Given the description of an element on the screen output the (x, y) to click on. 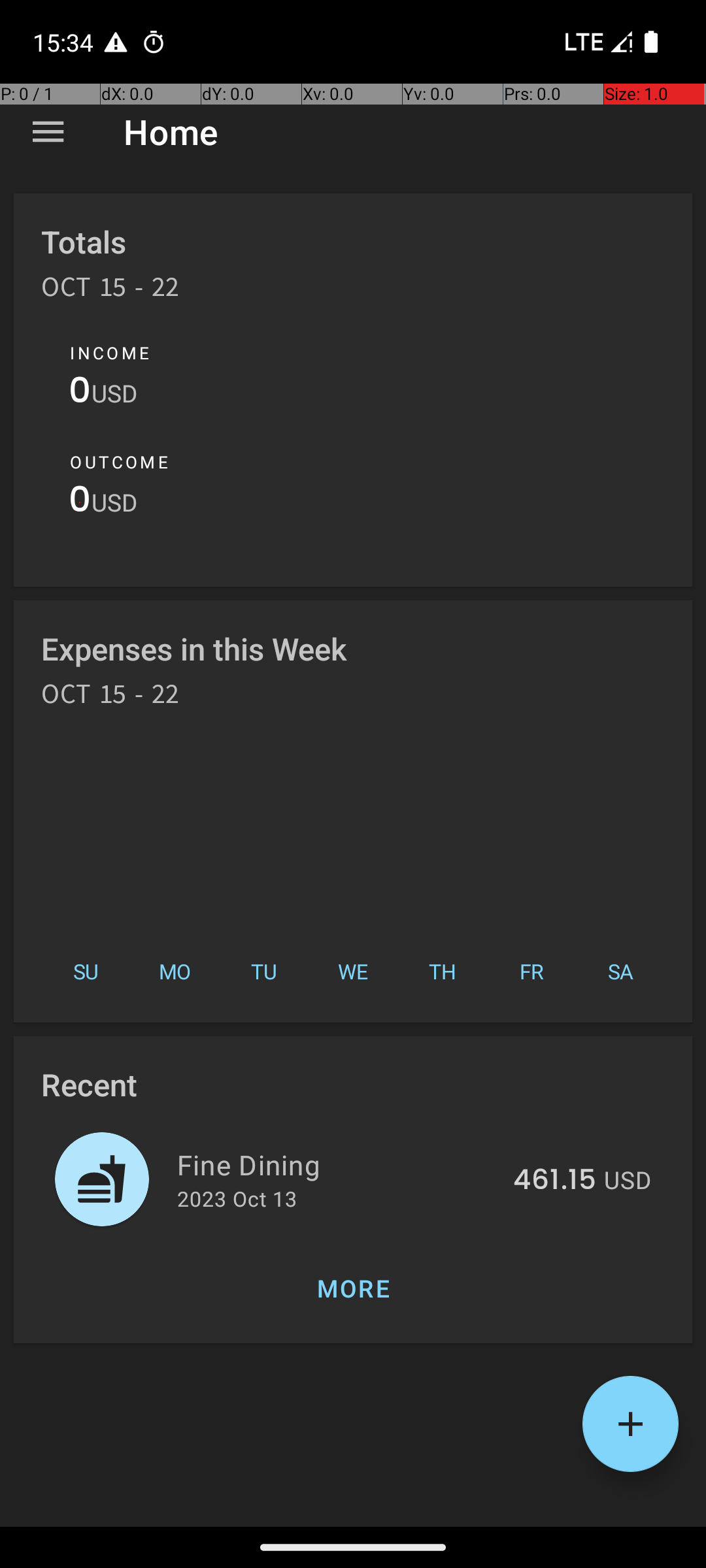
Fine Dining Element type: android.widget.TextView (337, 1164)
461.15 Element type: android.widget.TextView (554, 1180)
